Given the description of an element on the screen output the (x, y) to click on. 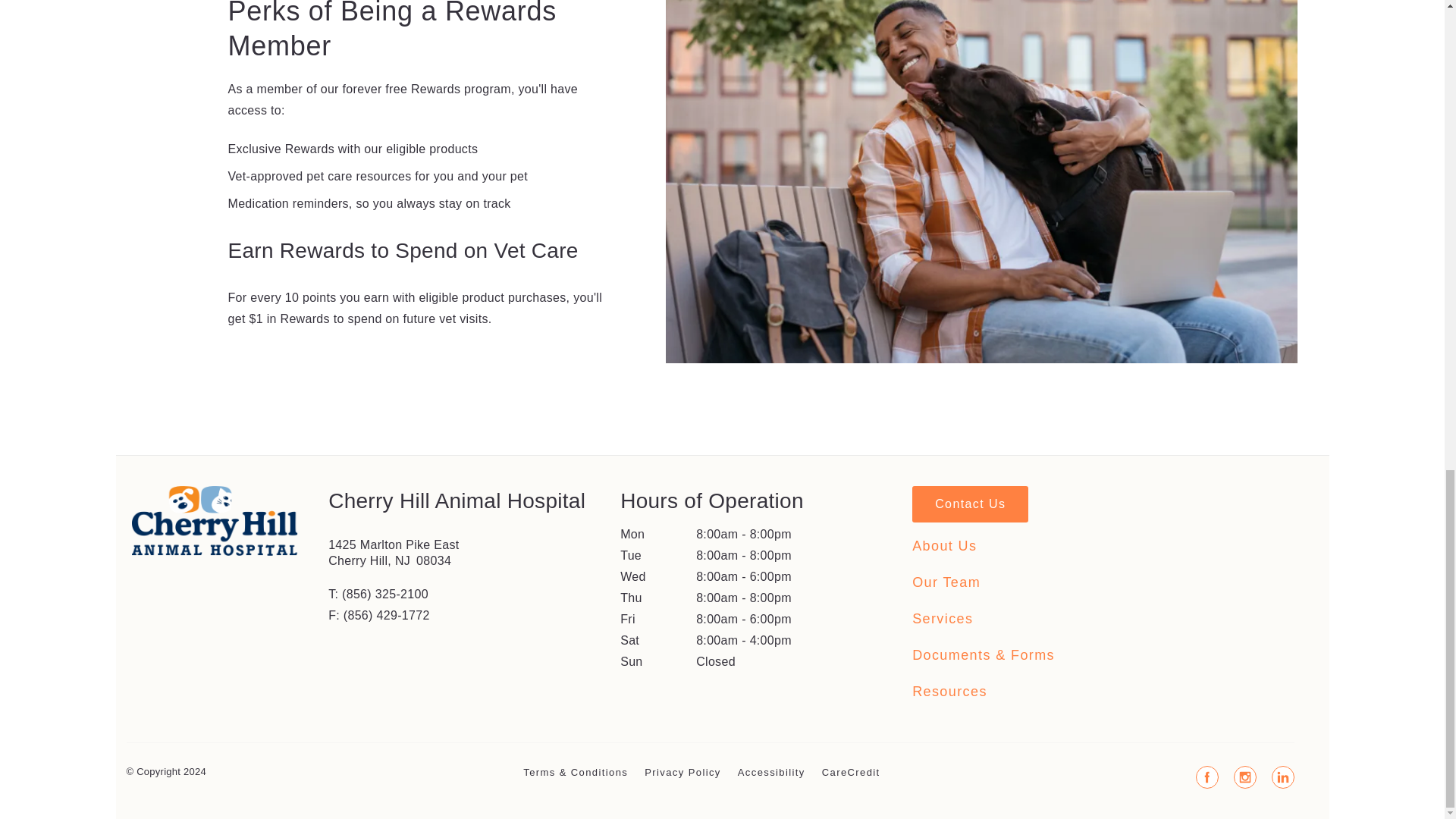
About Us (944, 545)
Resources (949, 691)
Our Team (945, 581)
Services (942, 618)
Contact Us (969, 504)
